Given the description of an element on the screen output the (x, y) to click on. 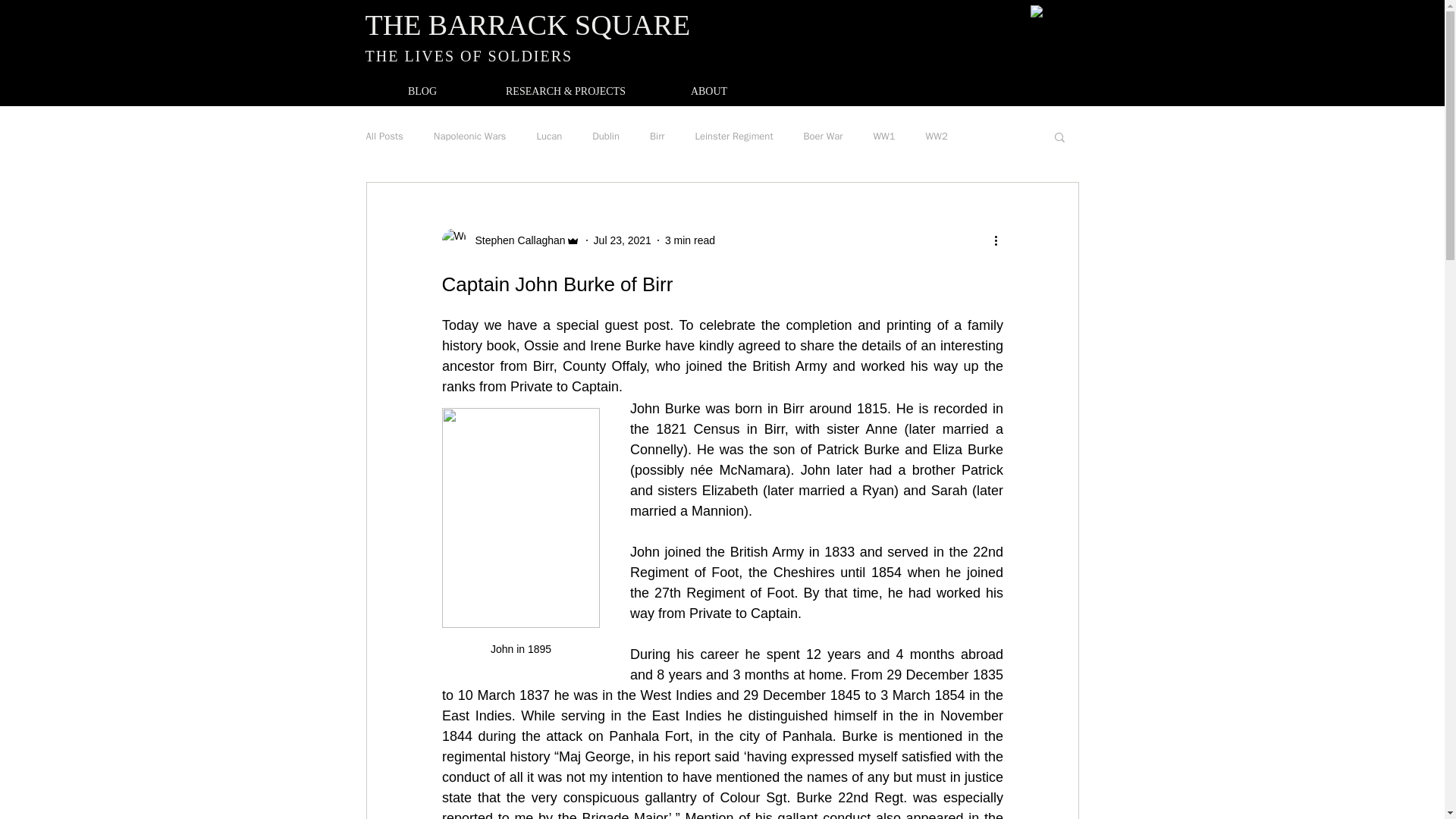
BLOG (421, 91)
Napoleonic Wars (469, 136)
Leinster Regiment (733, 136)
Jul 23, 2021 (622, 239)
All Posts (384, 136)
Birr (656, 136)
Stephen Callaghan (514, 239)
WW1 (883, 136)
SQUARE (628, 24)
ABOUT (708, 91)
Boer War (823, 136)
THE LIVES OF SOLDIERS (469, 55)
Lucan (548, 136)
THE BARRACK (466, 24)
WW2 (936, 136)
